Given the description of an element on the screen output the (x, y) to click on. 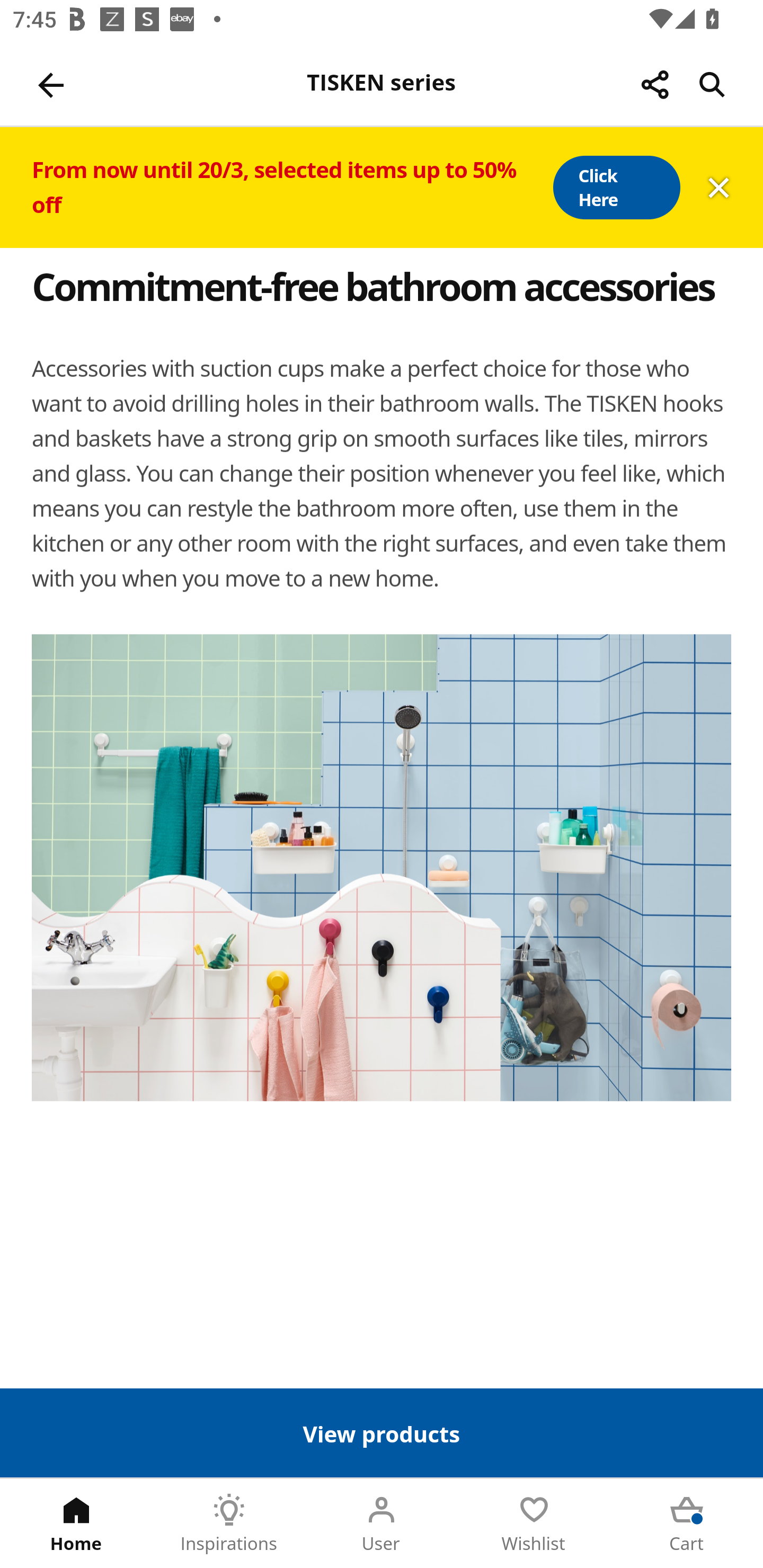
Click Here (615, 187)
View products (381, 1432)
Home
Tab 1 of 5 (76, 1522)
Inspirations
Tab 2 of 5 (228, 1522)
User
Tab 3 of 5 (381, 1522)
Wishlist
Tab 4 of 5 (533, 1522)
Cart
Tab 5 of 5 (686, 1522)
